Given the description of an element on the screen output the (x, y) to click on. 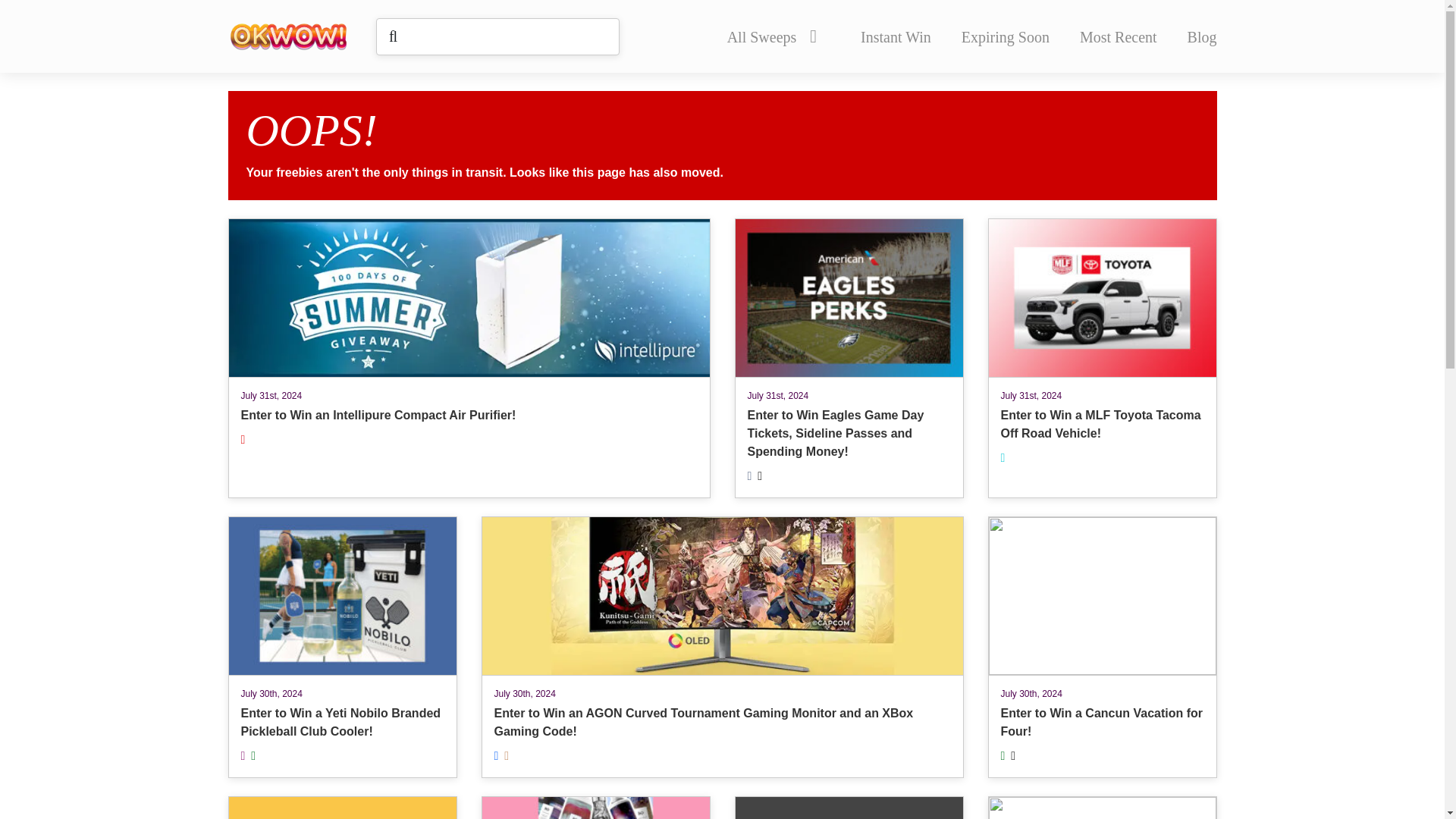
Most Recent (1118, 36)
Instant Win (895, 36)
Expiring Soon (1004, 36)
All Sweeps (771, 36)
